Given the description of an element on the screen output the (x, y) to click on. 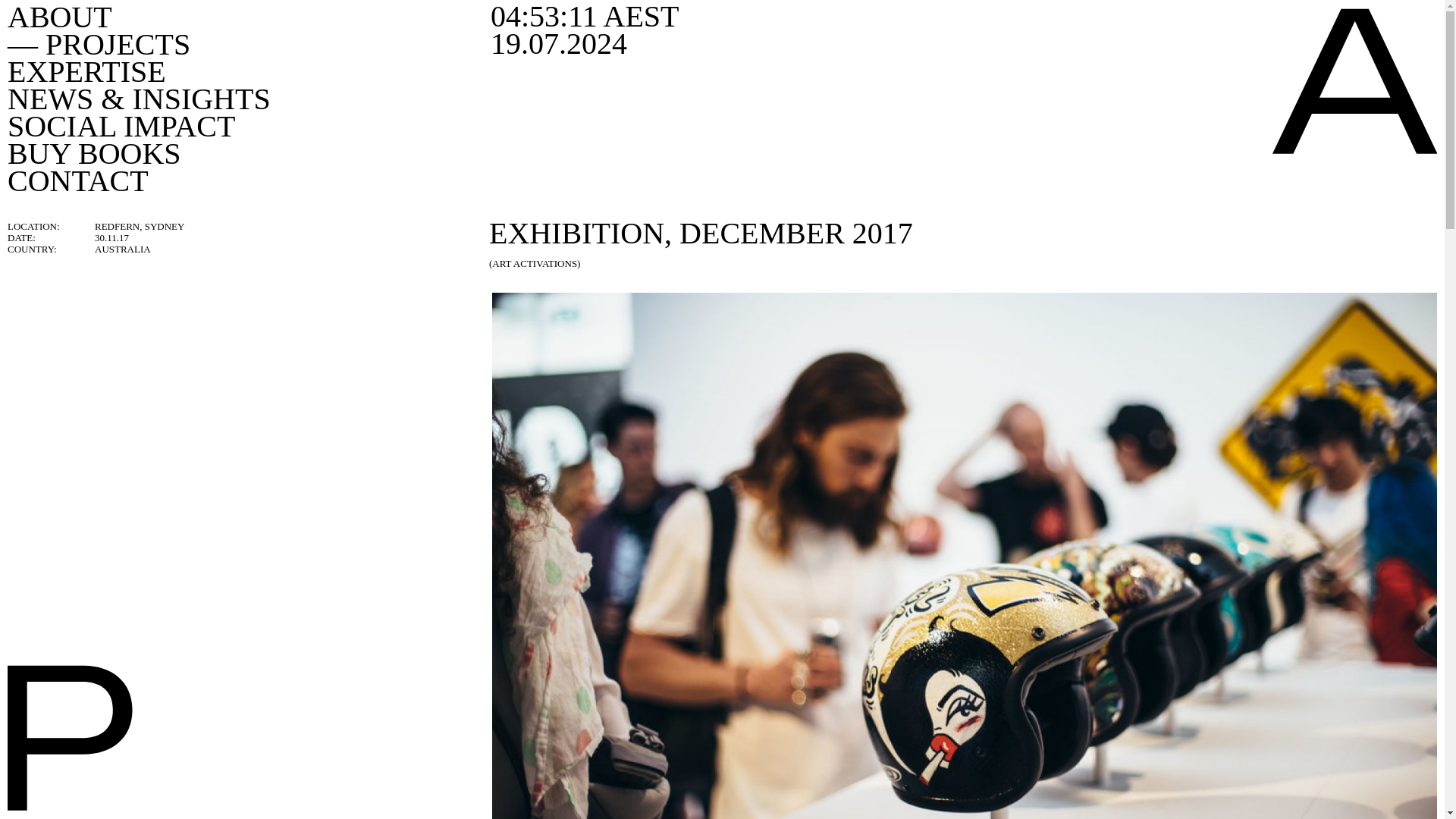
PROJECTS (98, 44)
SOCIAL IMPACT (120, 125)
ABOUT (59, 17)
BUY BOOKS (93, 153)
EXPERTISE (86, 71)
CONTACT (77, 180)
